Given the description of an element on the screen output the (x, y) to click on. 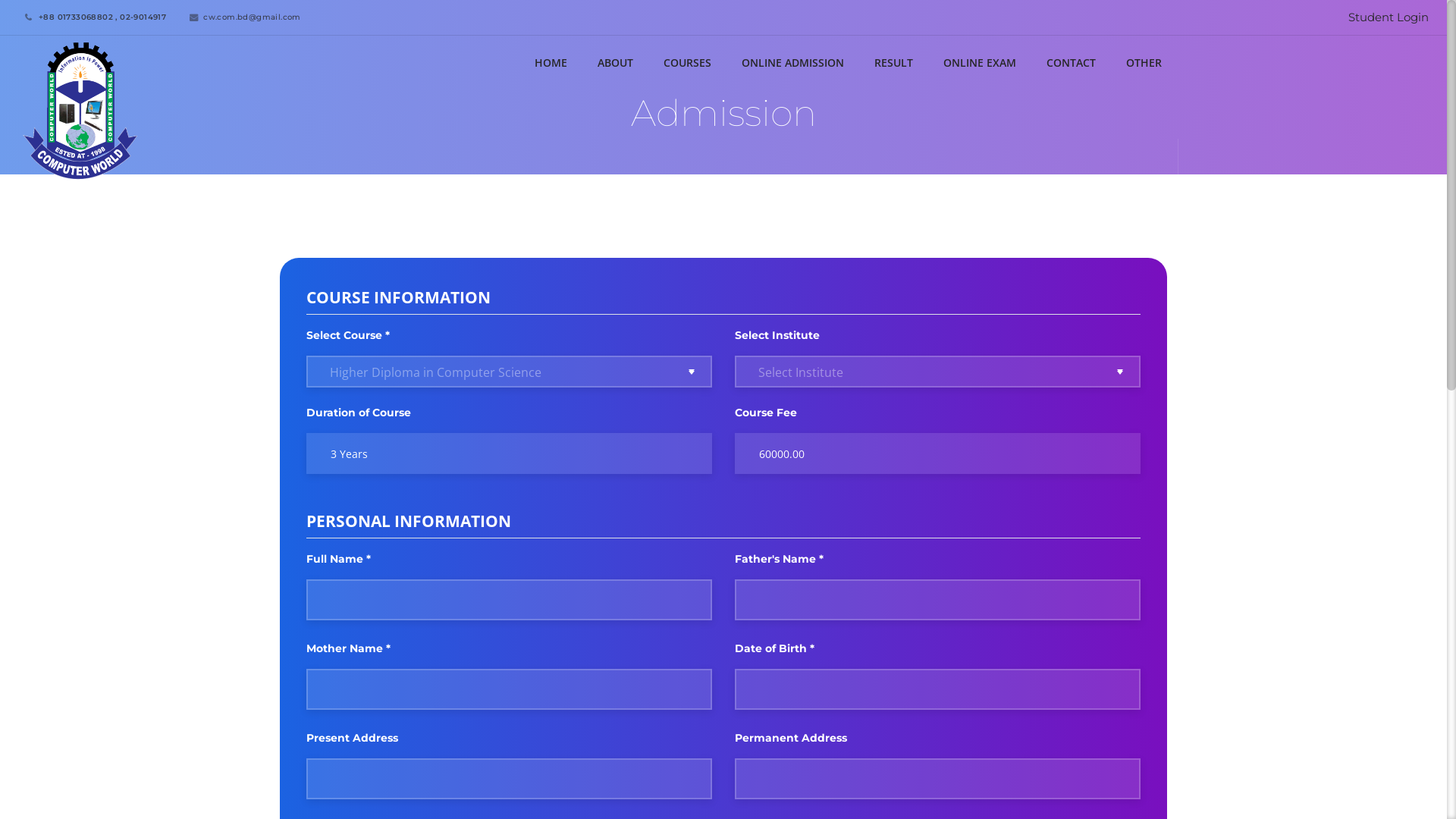
cw.com.bd@gmail.com Element type: text (241, 17)
+88 01733068802 , 02-9014917 Element type: text (91, 17)
ABOUT Element type: text (614, 62)
Student Login Element type: text (1388, 17)
CONTACT Element type: text (1070, 62)
OTHER Element type: text (1143, 62)
HOME Element type: text (550, 62)
ONLINE ADMISSION Element type: text (791, 62)
COURSES Element type: text (687, 62)
ONLINE EXAM Element type: text (978, 62)
RESULT Element type: text (893, 62)
